Given the description of an element on the screen output the (x, y) to click on. 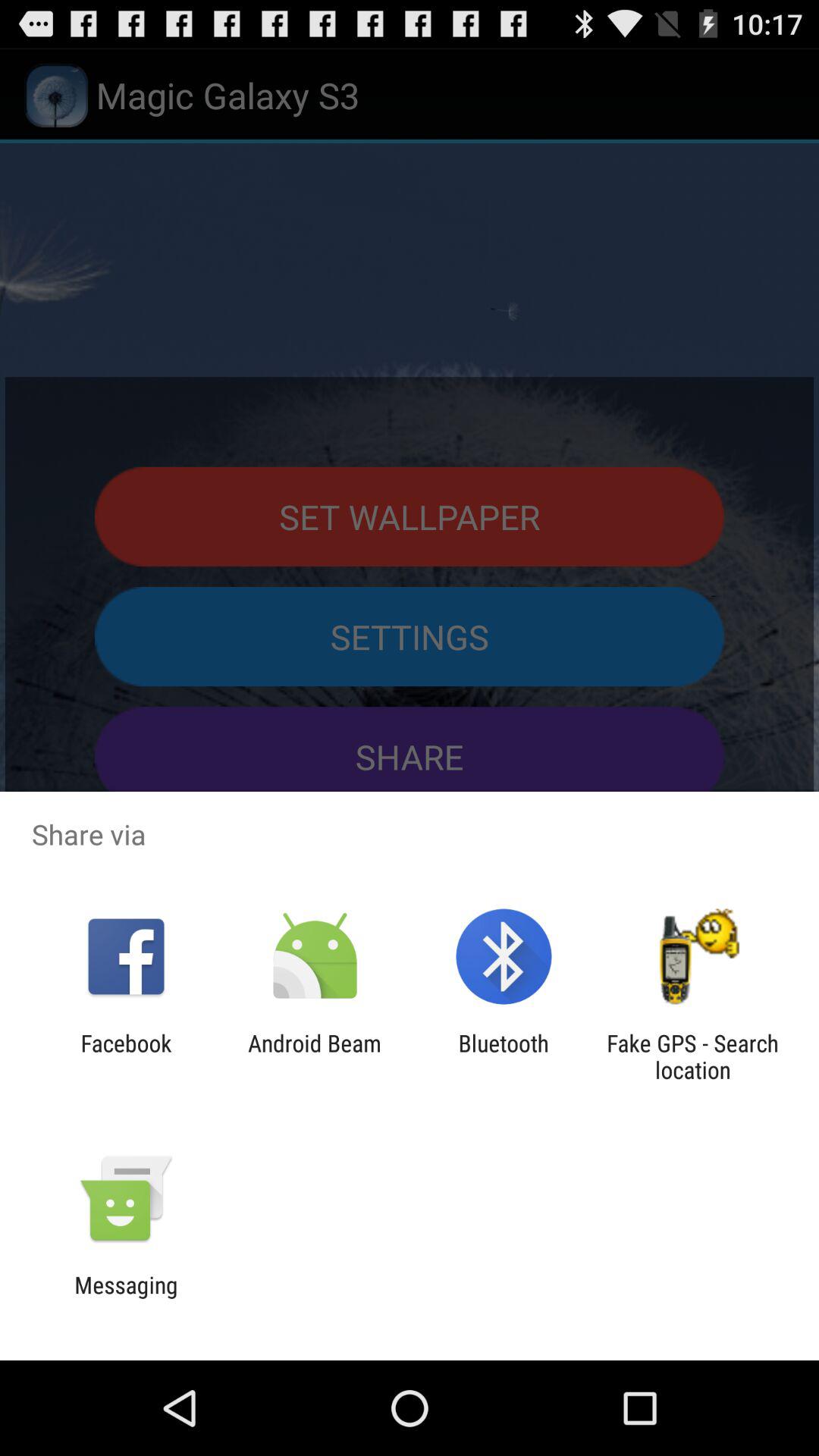
turn off app to the left of android beam (125, 1056)
